Given the description of an element on the screen output the (x, y) to click on. 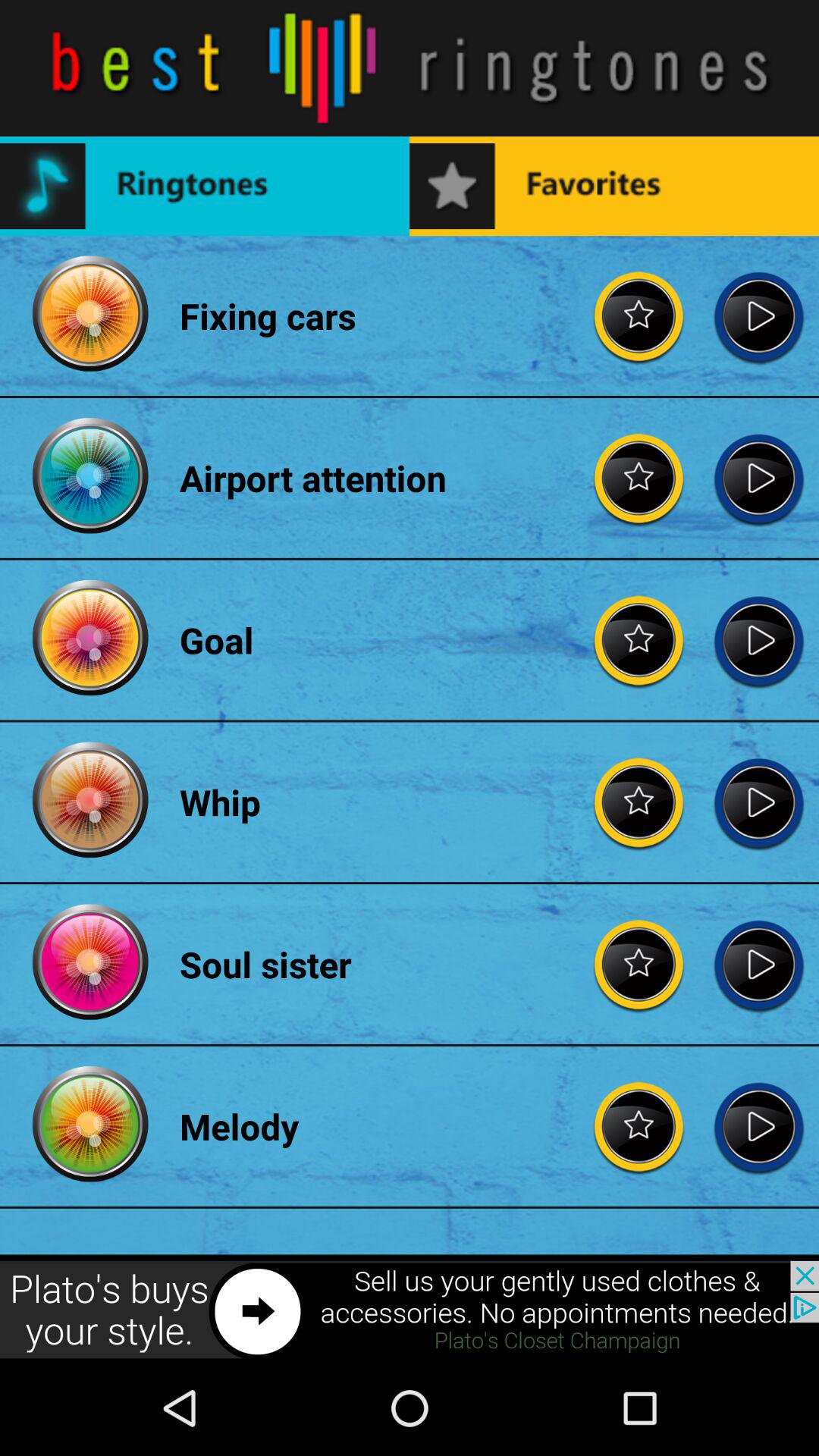
like (639, 315)
